Given the description of an element on the screen output the (x, y) to click on. 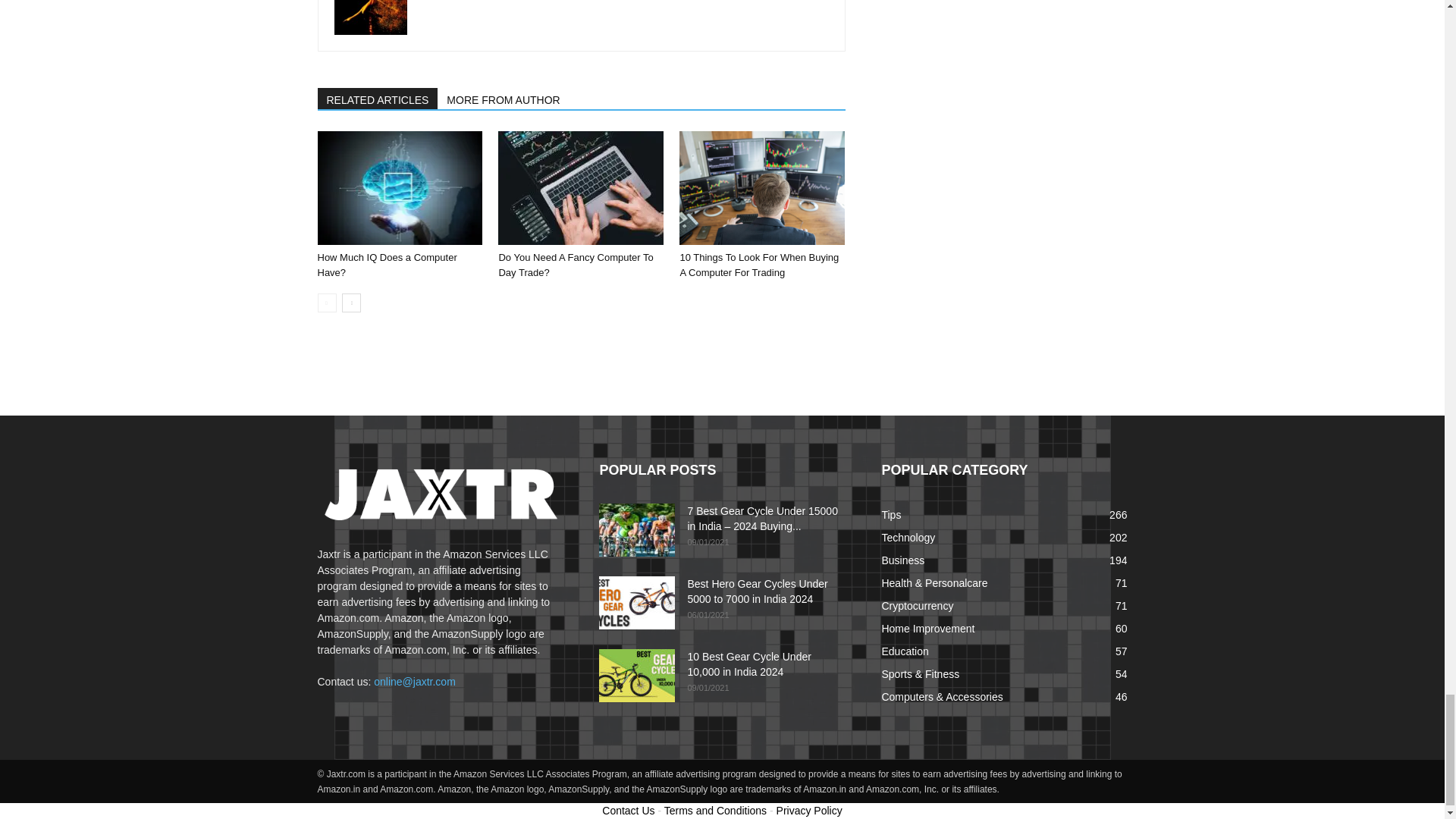
How Much IQ Does a Computer Have? (387, 264)
Do You Need A Fancy Computer To Day Trade? (580, 187)
How Much IQ Does a Computer Have? (399, 187)
